Given the description of an element on the screen output the (x, y) to click on. 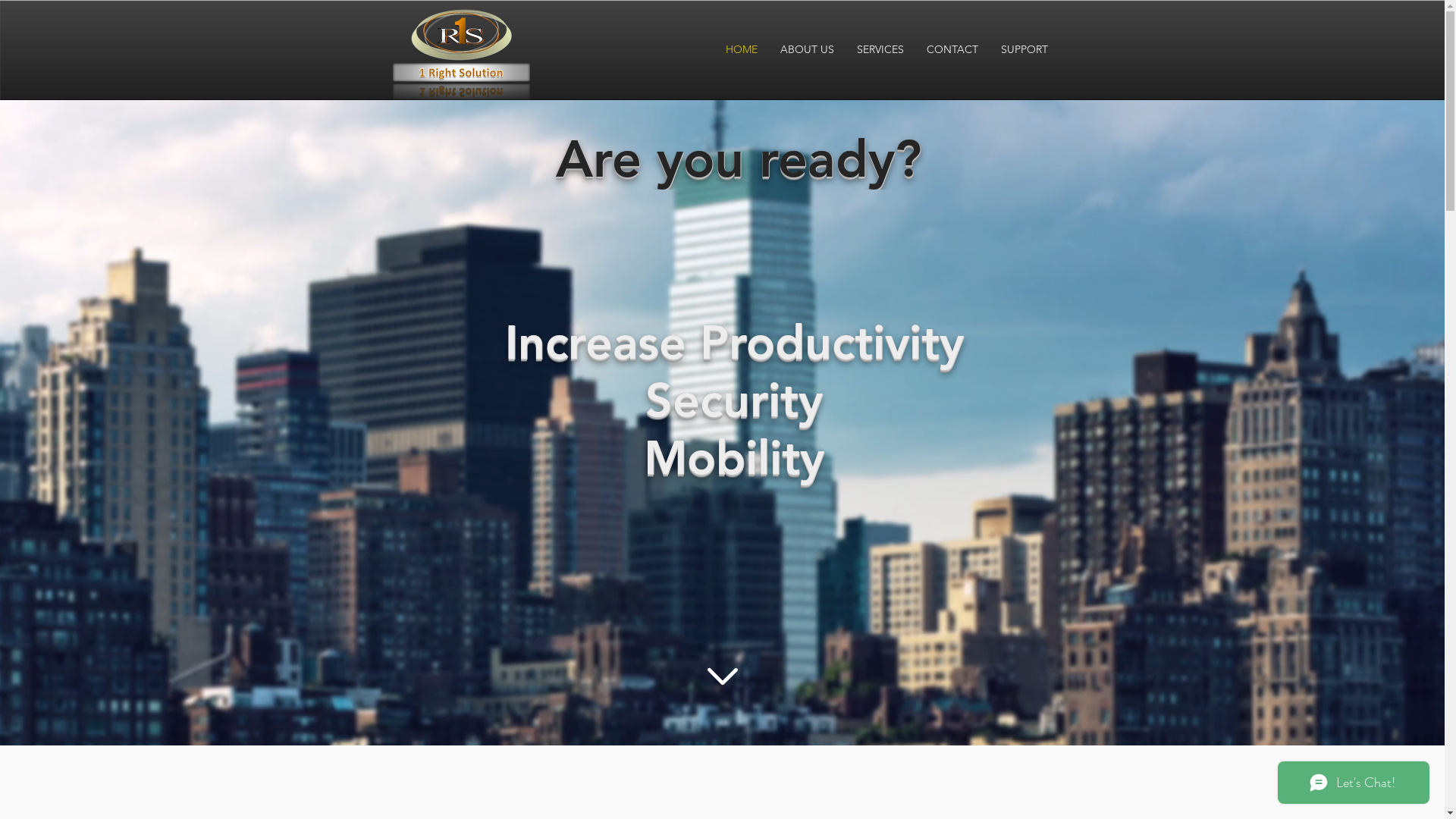
SERVICES Element type: text (879, 49)
CONTACT Element type: text (951, 49)
SUPPORT Element type: text (1023, 49)
ABOUT US Element type: text (806, 49)
HOME Element type: text (741, 49)
